Given the description of an element on the screen output the (x, y) to click on. 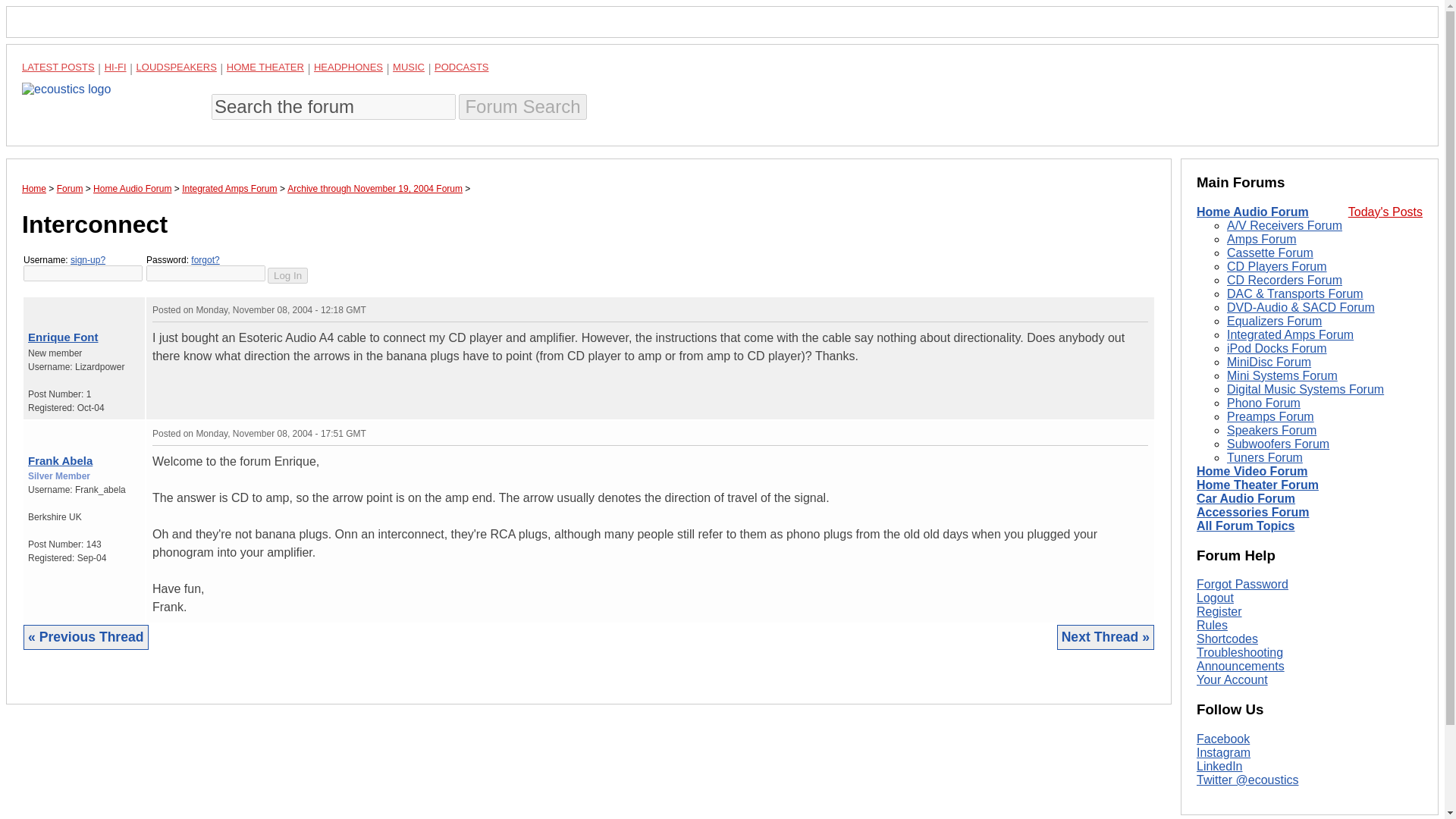
Home Audio Forum (132, 188)
Home Audio Forum (1252, 211)
Edit Post (1140, 432)
last post (50, 307)
HI-FI (115, 66)
forgot? (204, 259)
Forgot your password? (204, 259)
Archive through November 19, 2004 Forum (374, 188)
LOUDSPEAKERS (176, 66)
Search the forum (333, 106)
previous post (41, 429)
Edit Post (1140, 309)
top of page (32, 429)
MUSIC (409, 66)
PODCASTS (461, 66)
